Given the description of an element on the screen output the (x, y) to click on. 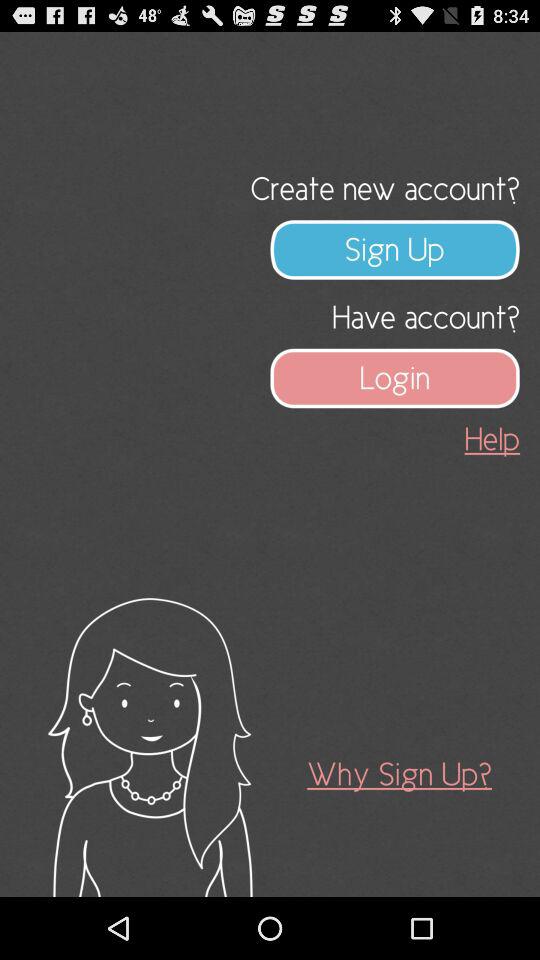
select app below the have account? (395, 378)
